Given the description of an element on the screen output the (x, y) to click on. 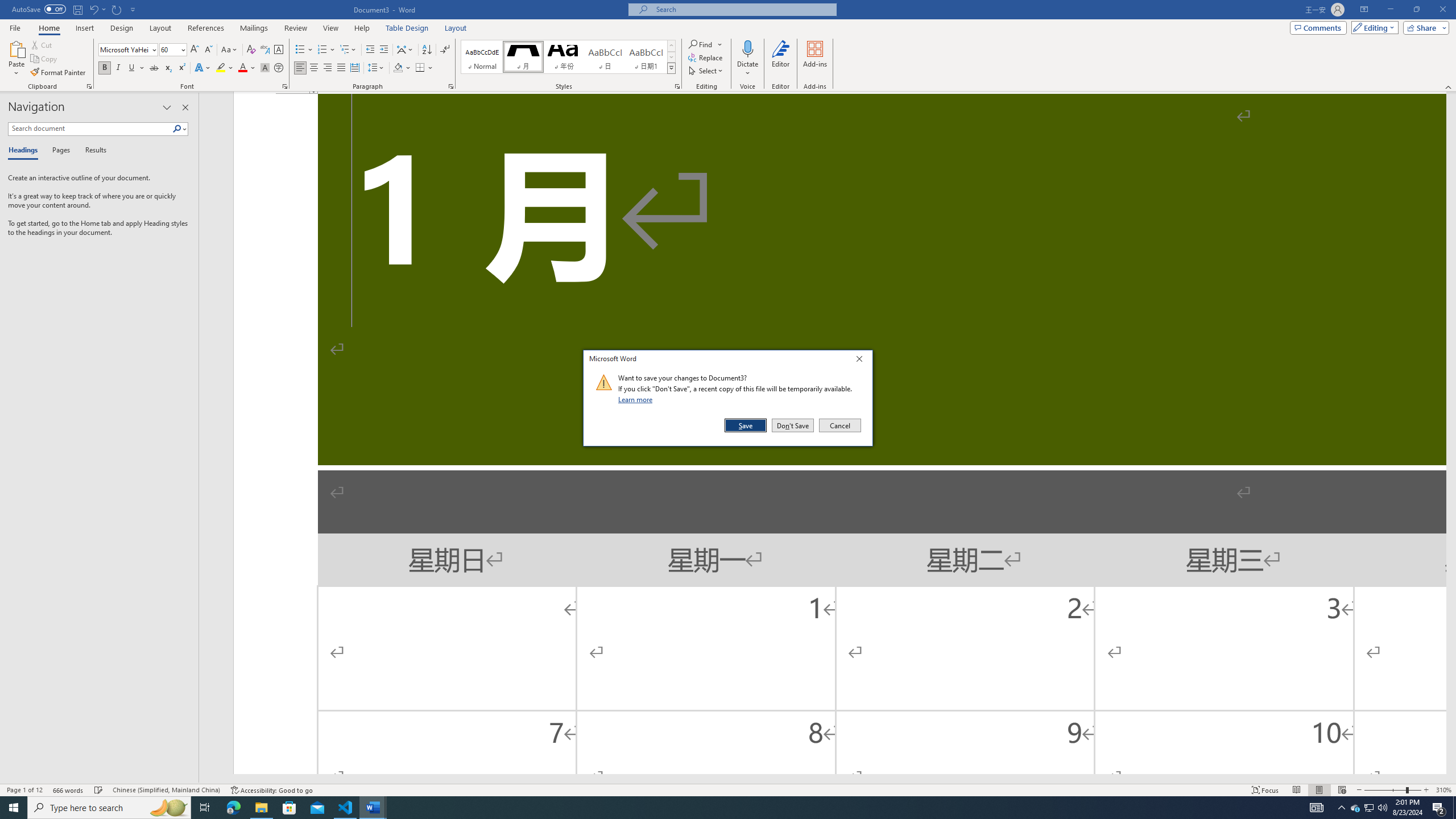
Microsoft Edge (233, 807)
